Given the description of an element on the screen output the (x, y) to click on. 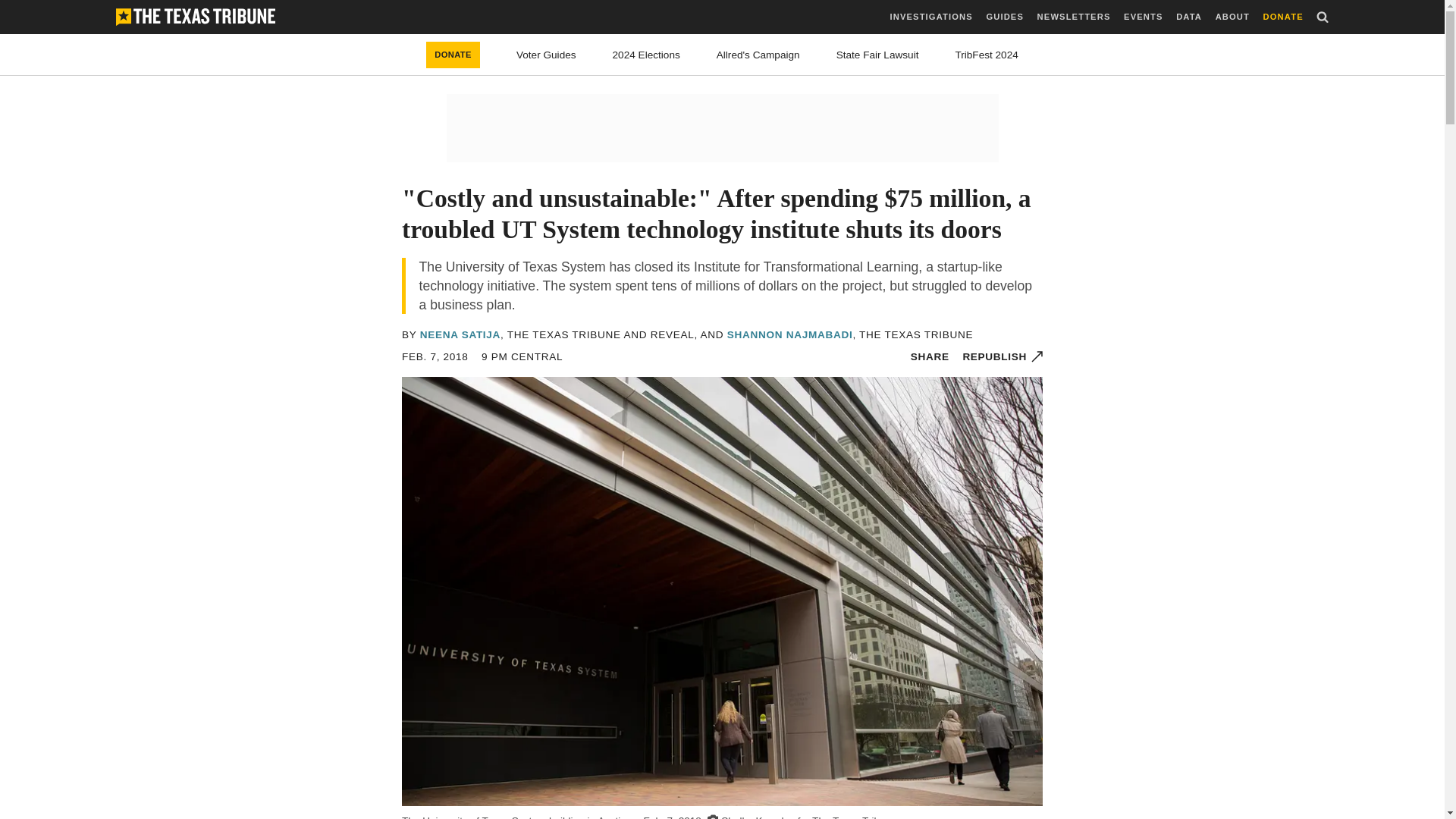
NEWSLETTERS (1073, 17)
GUIDES (1004, 17)
DONATE (453, 54)
DONATE (1283, 17)
EVENTS (1142, 17)
INVESTIGATIONS (930, 17)
NEENA SATIJA (460, 334)
2024 Elections (645, 54)
State Fair Lawsuit (876, 54)
2018-02-07 21:01 CST (434, 356)
